Given the description of an element on the screen output the (x, y) to click on. 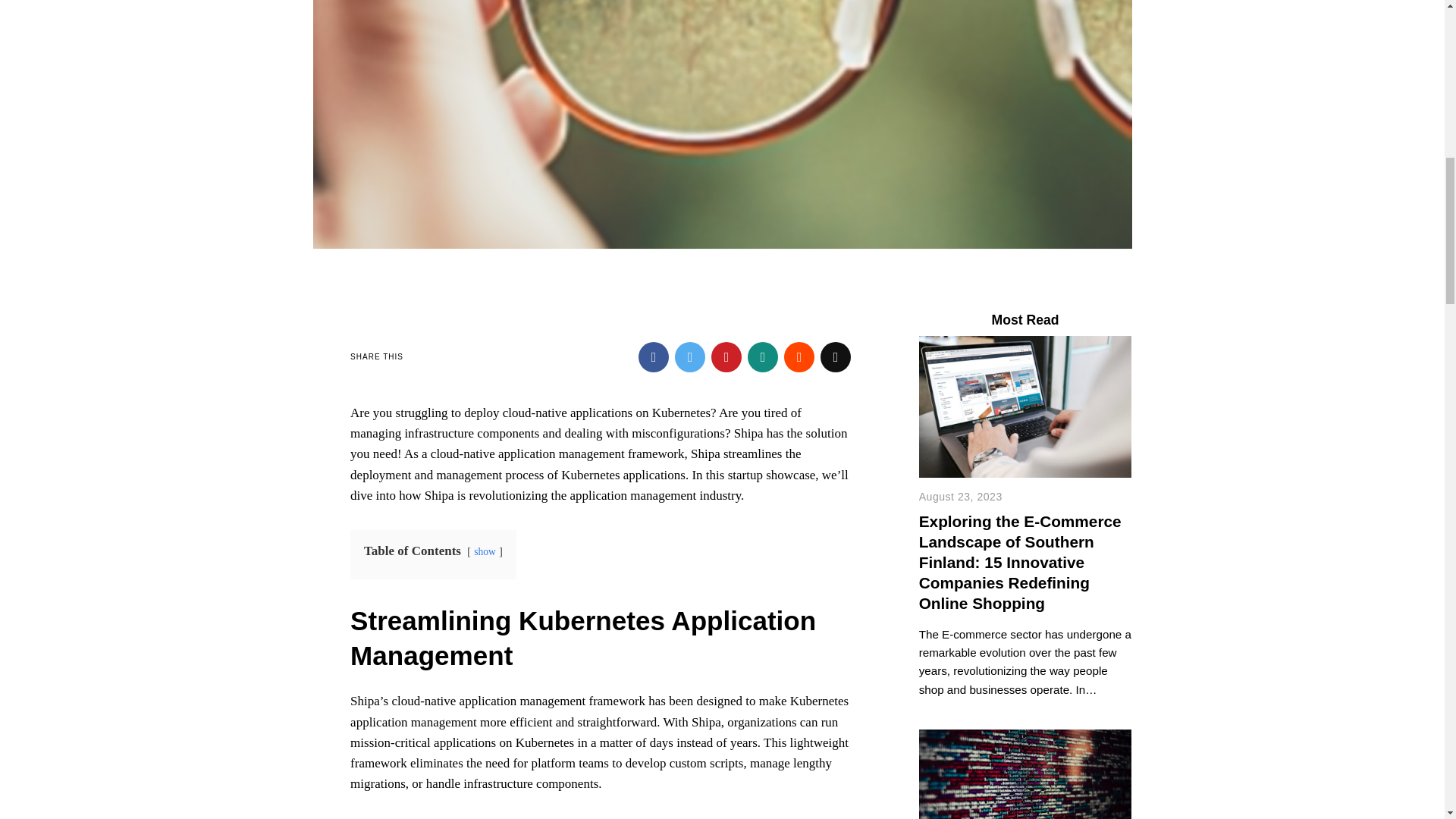
Facebook (653, 357)
Pinterest (726, 357)
Reddit (798, 357)
Whatsapp (762, 357)
Twitter (689, 357)
Email (835, 357)
